Given the description of an element on the screen output the (x, y) to click on. 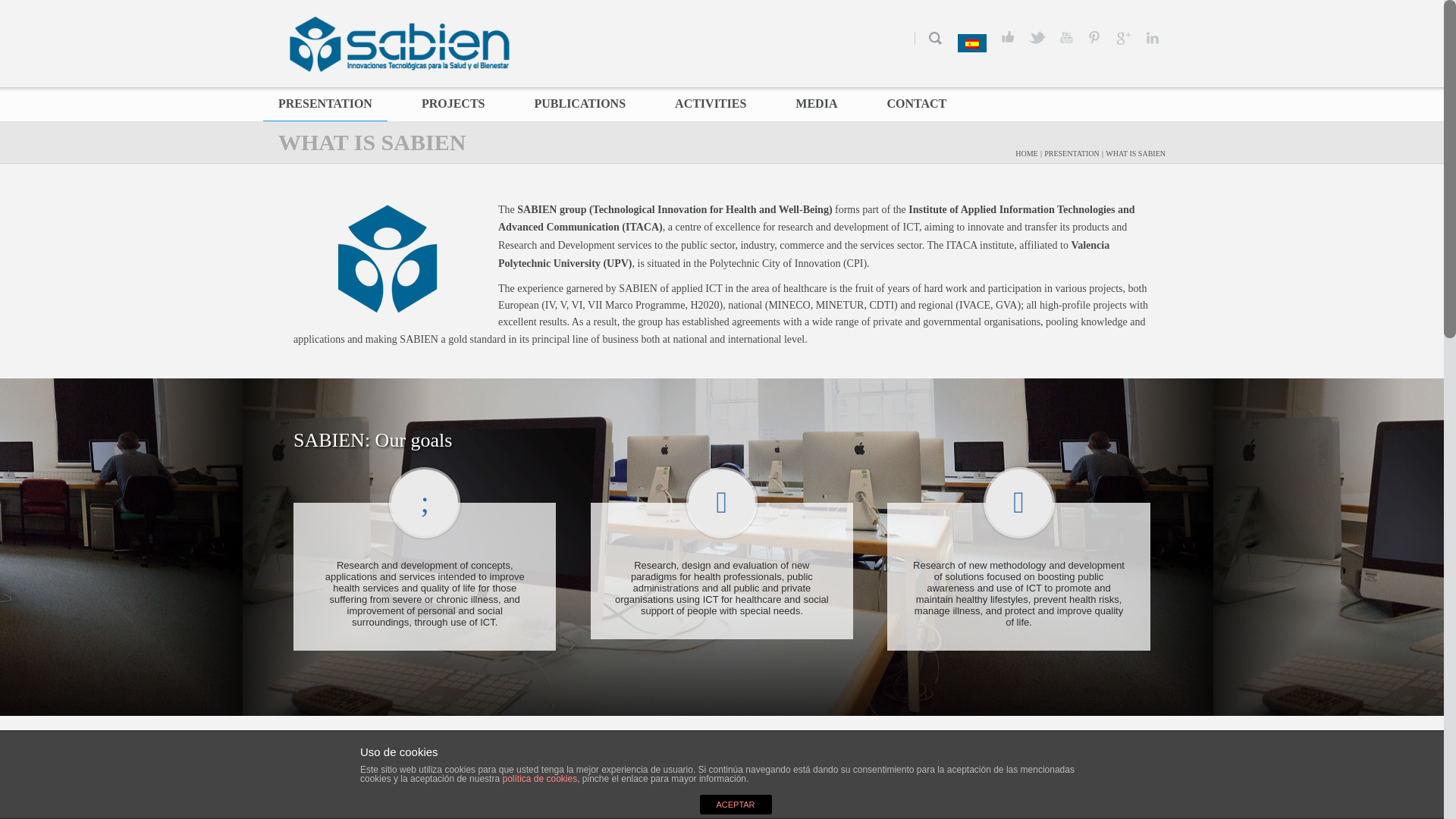
PUBLICATIONS (579, 102)
PRESENTATION (325, 102)
MEDIA (815, 102)
ACTIVITIES (710, 102)
Twitter (1036, 37)
CONTACT (915, 102)
Youtube (1065, 37)
Facebook (1008, 37)
HOME (1025, 152)
PRESENTATION (1071, 152)
Pinterest (1094, 37)
LinkedIn (1152, 37)
Sabien ITACA (399, 43)
PROJECTS (453, 102)
